Given the description of an element on the screen output the (x, y) to click on. 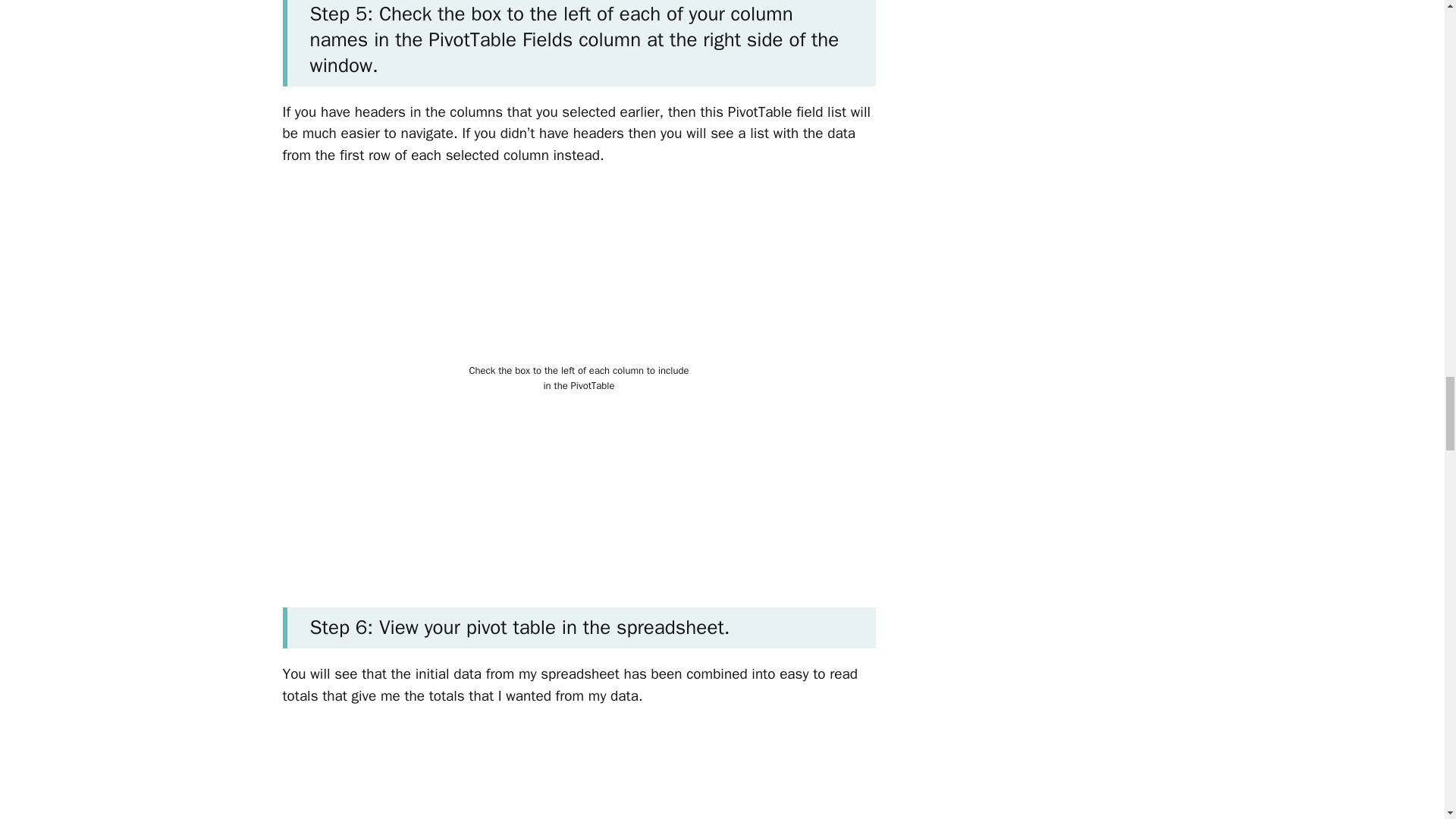
How to Create a Pivot Table in Excel 2013 4 (579, 273)
How to Create a Pivot Table in Excel 2013 5 (577, 773)
